Given the description of an element on the screen output the (x, y) to click on. 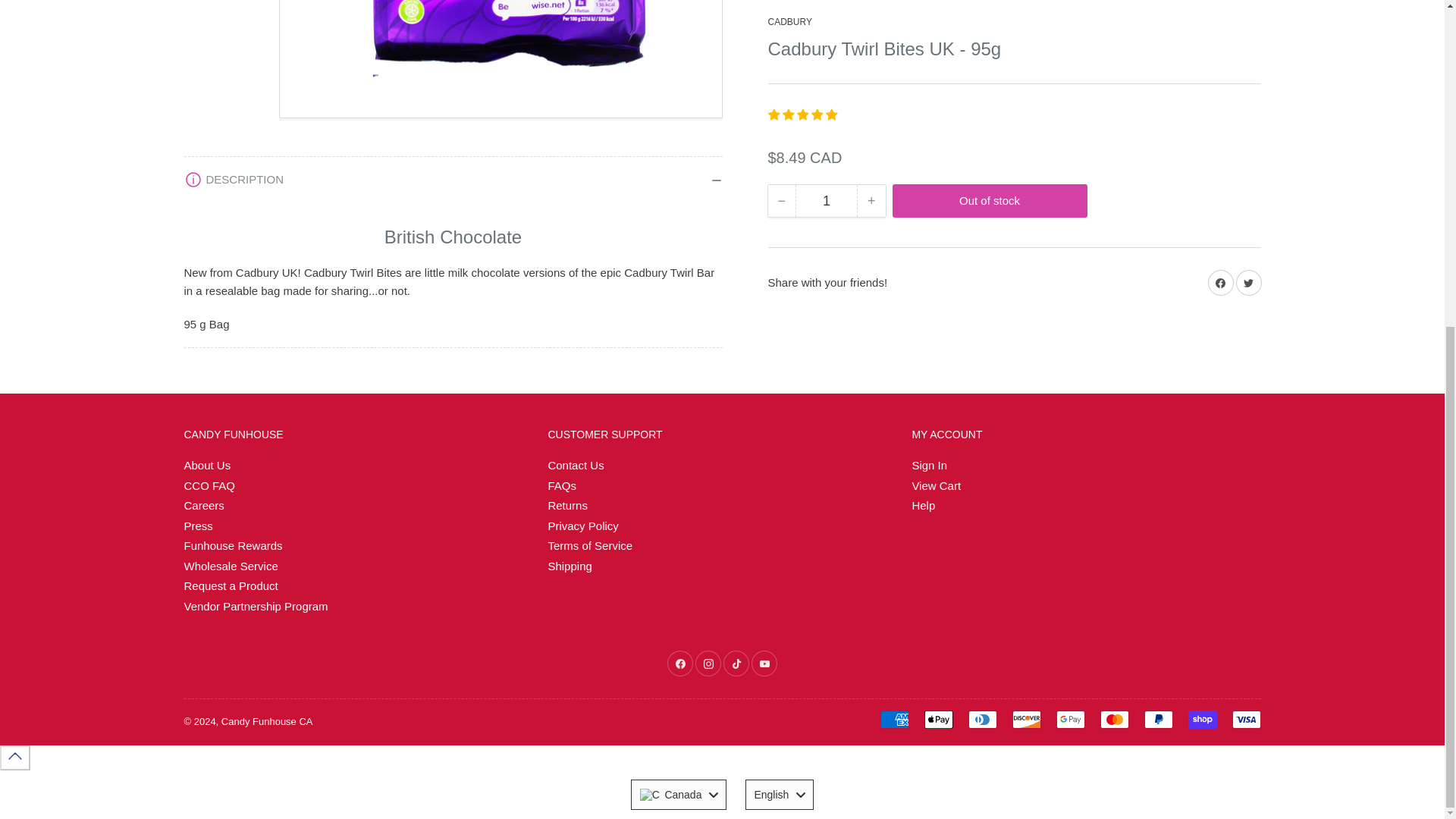
Diners Club (981, 719)
Apple Pay (937, 719)
Discover (1026, 719)
American Express (893, 719)
PayPal (1157, 719)
Google Pay (1069, 719)
Shop Pay (1201, 719)
Mastercard (1113, 719)
